Given the description of an element on the screen output the (x, y) to click on. 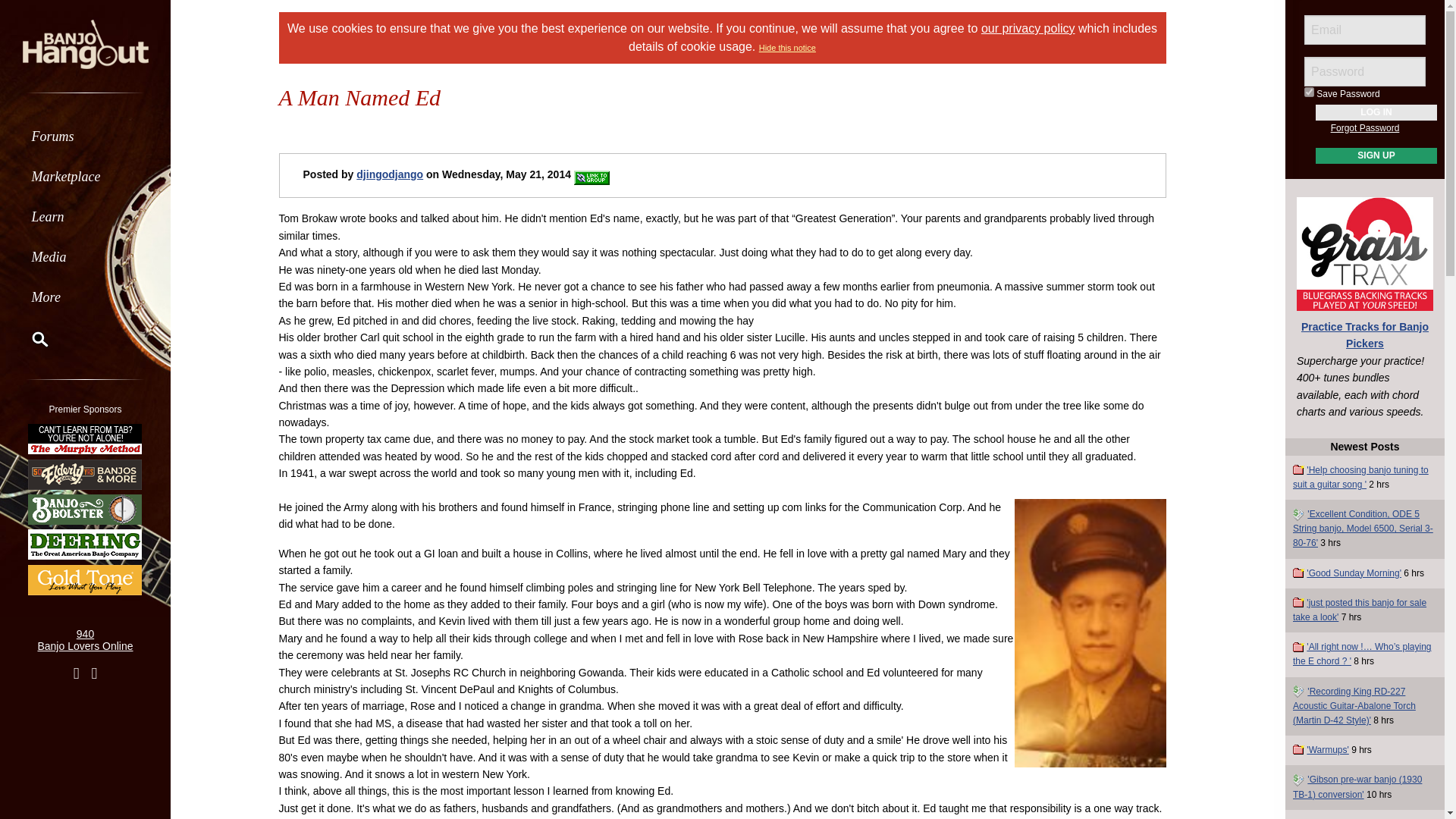
true (1309, 91)
Forums (85, 136)
Deering Banjos (84, 544)
Sign Up (1376, 155)
Log In (1376, 112)
Banjo Bolster Tone Enhancer (84, 509)
Marketplace (85, 176)
Gold Tone (84, 579)
Elderly Instruments - Since 1972 (84, 473)
The Murphy Method (84, 438)
